Given the description of an element on the screen output the (x, y) to click on. 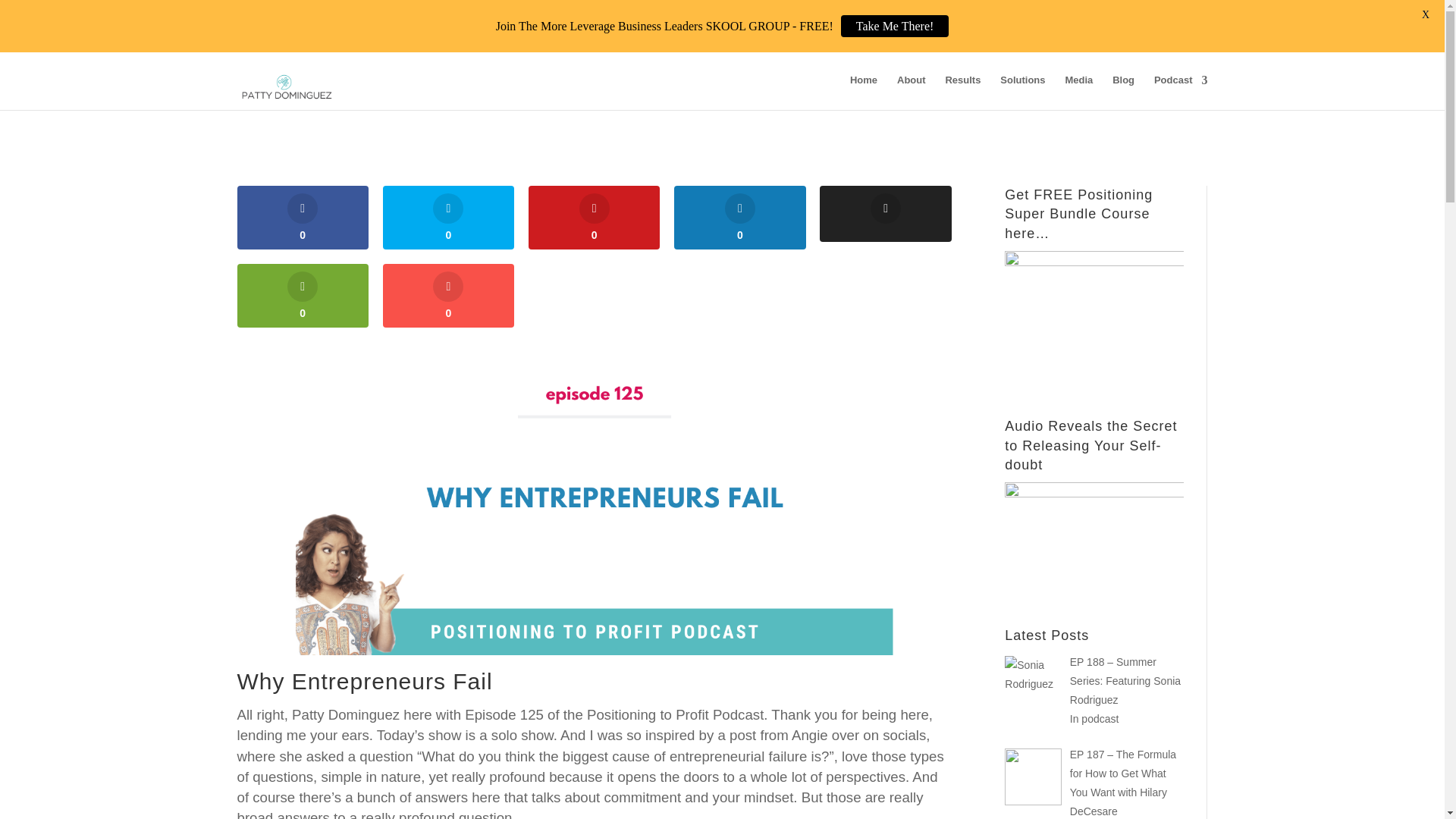
0 (301, 295)
0 (447, 295)
Audio Reveals the Secret to Releasing Your Self-doubt (1093, 530)
0 (447, 217)
0 (593, 217)
Results (961, 92)
Podcast (1181, 92)
Get FREE Online Marketing Mastery Course (1093, 310)
Solutions (1022, 92)
0 (301, 217)
